Given the description of an element on the screen output the (x, y) to click on. 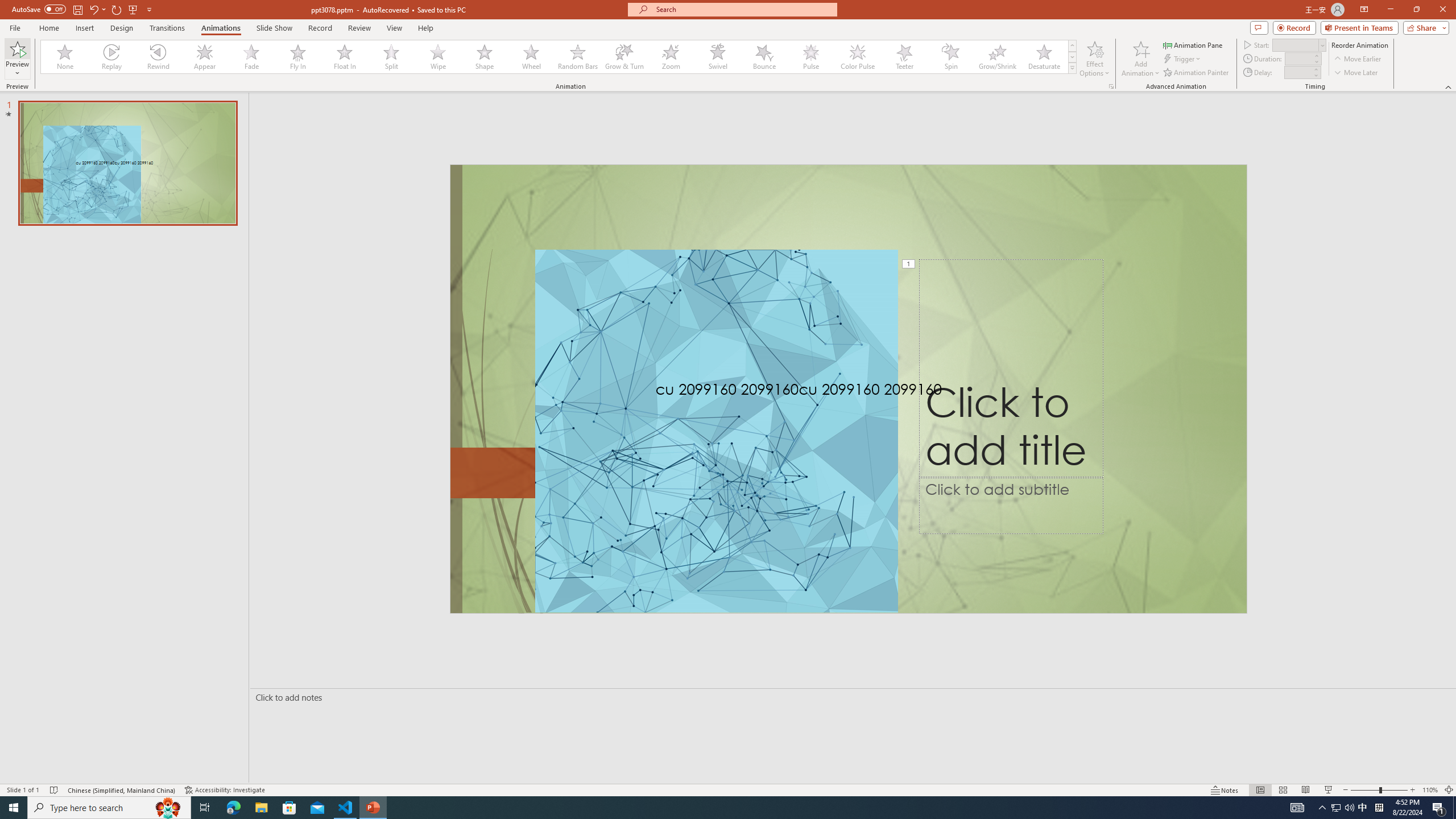
Animation Delay (1297, 72)
Appear (205, 56)
Rewind (158, 56)
Color Pulse (857, 56)
Teeter (903, 56)
